Given the description of an element on the screen output the (x, y) to click on. 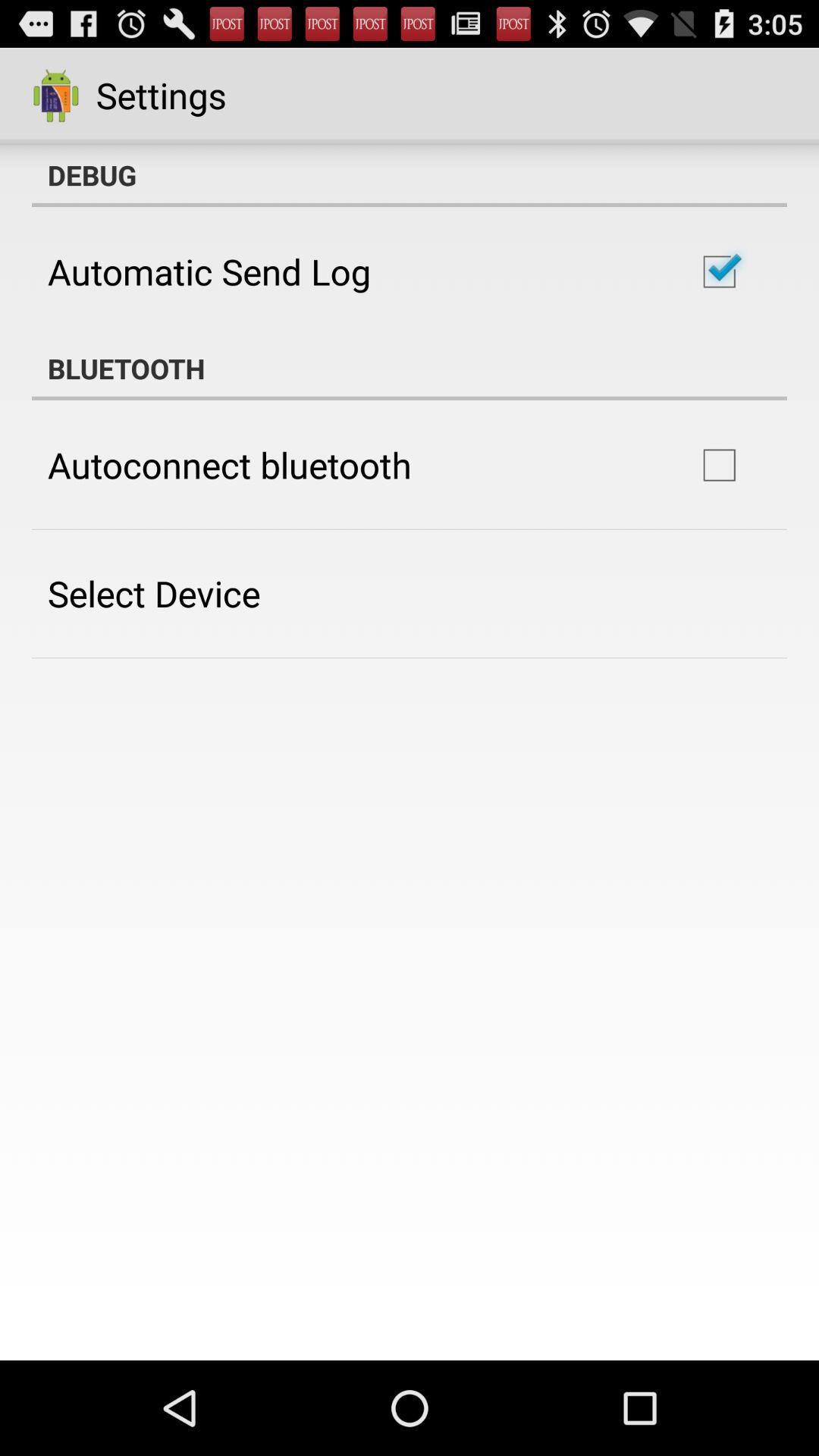
press item below debug icon (208, 271)
